Given the description of an element on the screen output the (x, y) to click on. 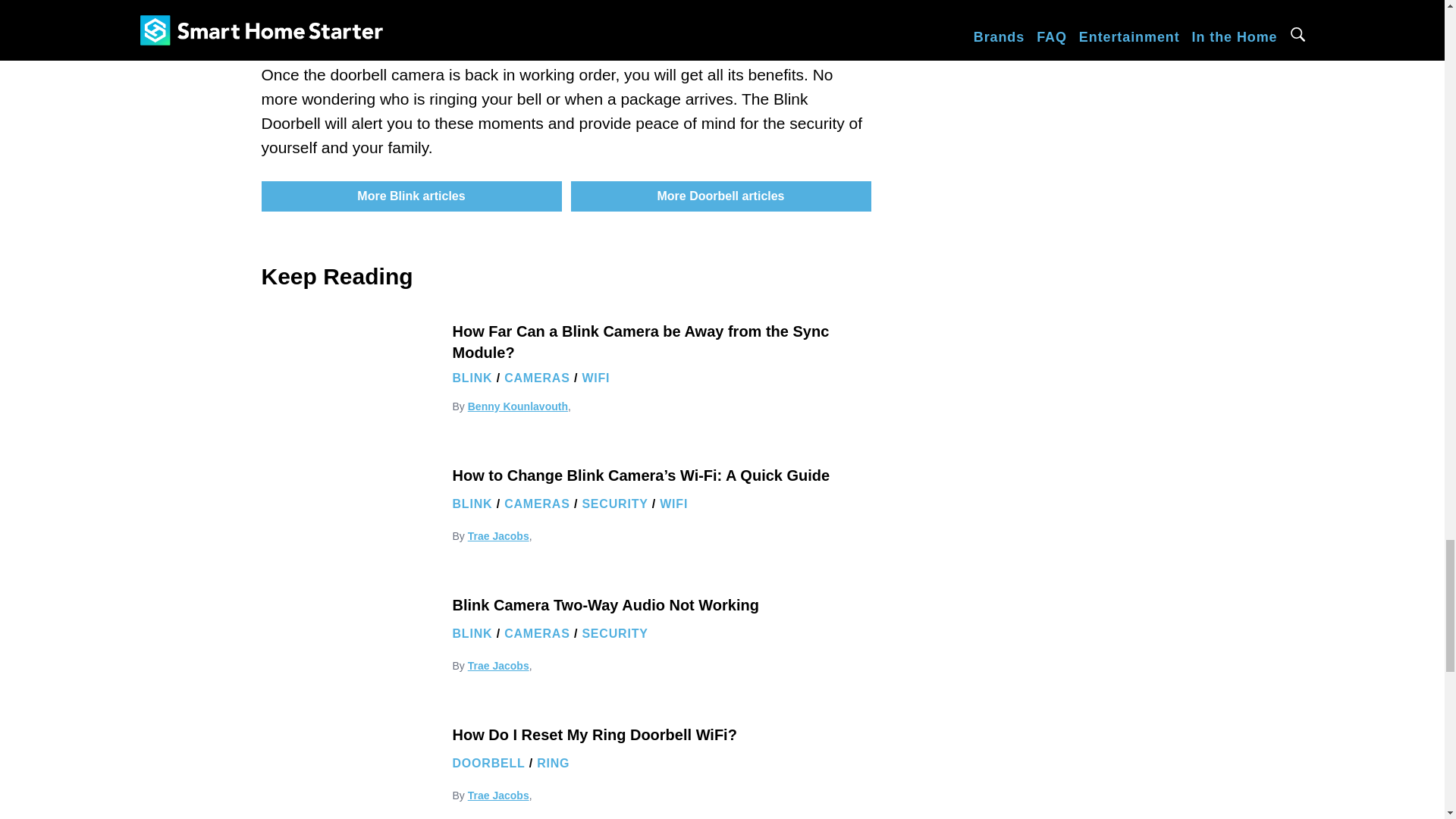
CAMERAS (536, 503)
WIFI (673, 503)
WIFI (595, 377)
BLINK (471, 633)
BLINK (471, 377)
More Blink articles (410, 195)
CAMERAS (536, 377)
Benny Kounlavouth (517, 406)
Blink Camera Two-Way Audio Not Working (604, 604)
CAMERAS (536, 633)
